Given the description of an element on the screen output the (x, y) to click on. 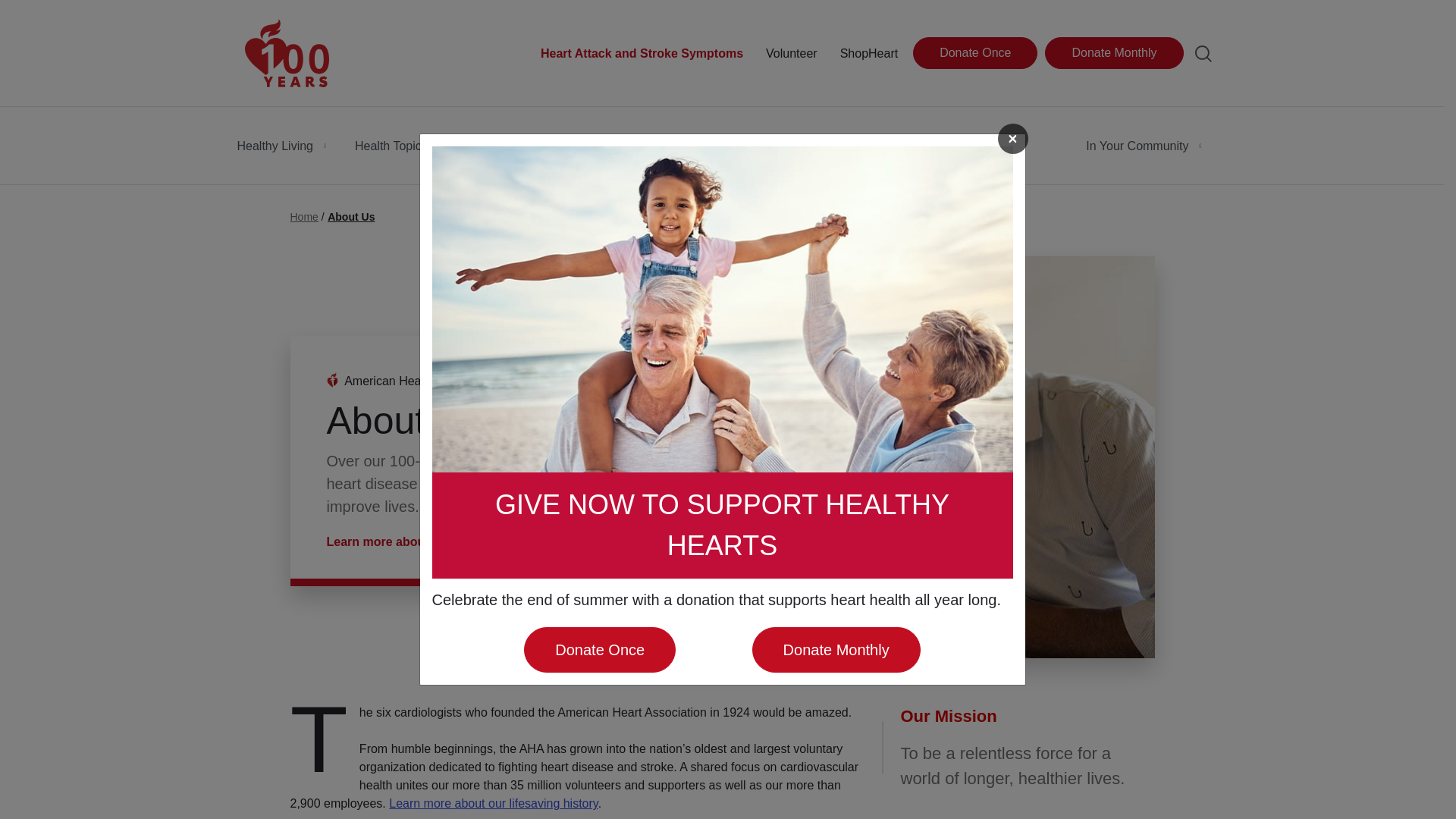
Search (1203, 54)
Volunteer (790, 54)
Donate Once (974, 52)
ShopHeart (869, 54)
Heart Attack and Stroke Symptoms (641, 54)
Learn more about our impact (421, 542)
Donate Monthly (1113, 52)
